Given the description of an element on the screen output the (x, y) to click on. 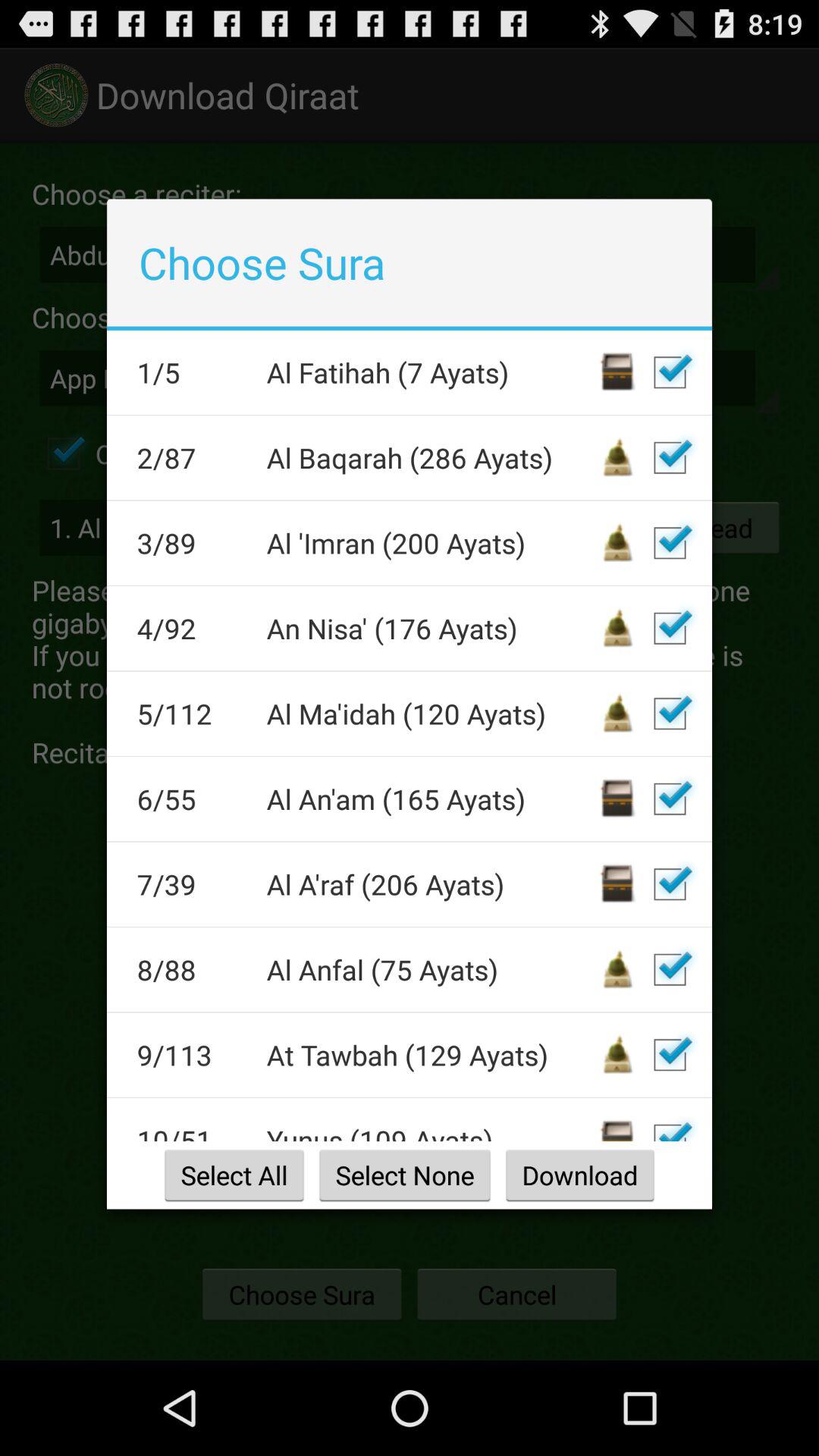
select item (669, 628)
